Given the description of an element on the screen output the (x, y) to click on. 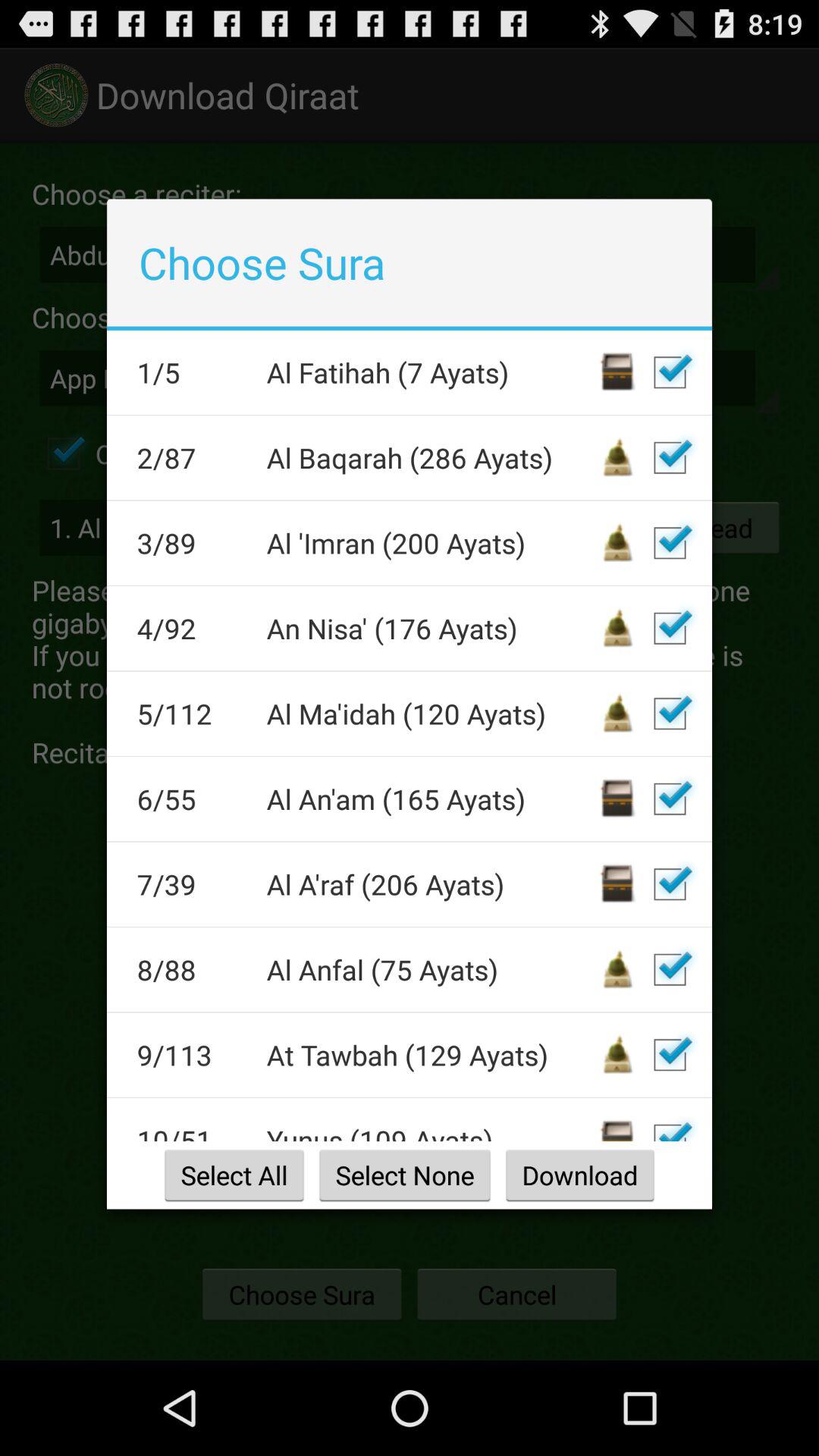
select item (669, 628)
